Given the description of an element on the screen output the (x, y) to click on. 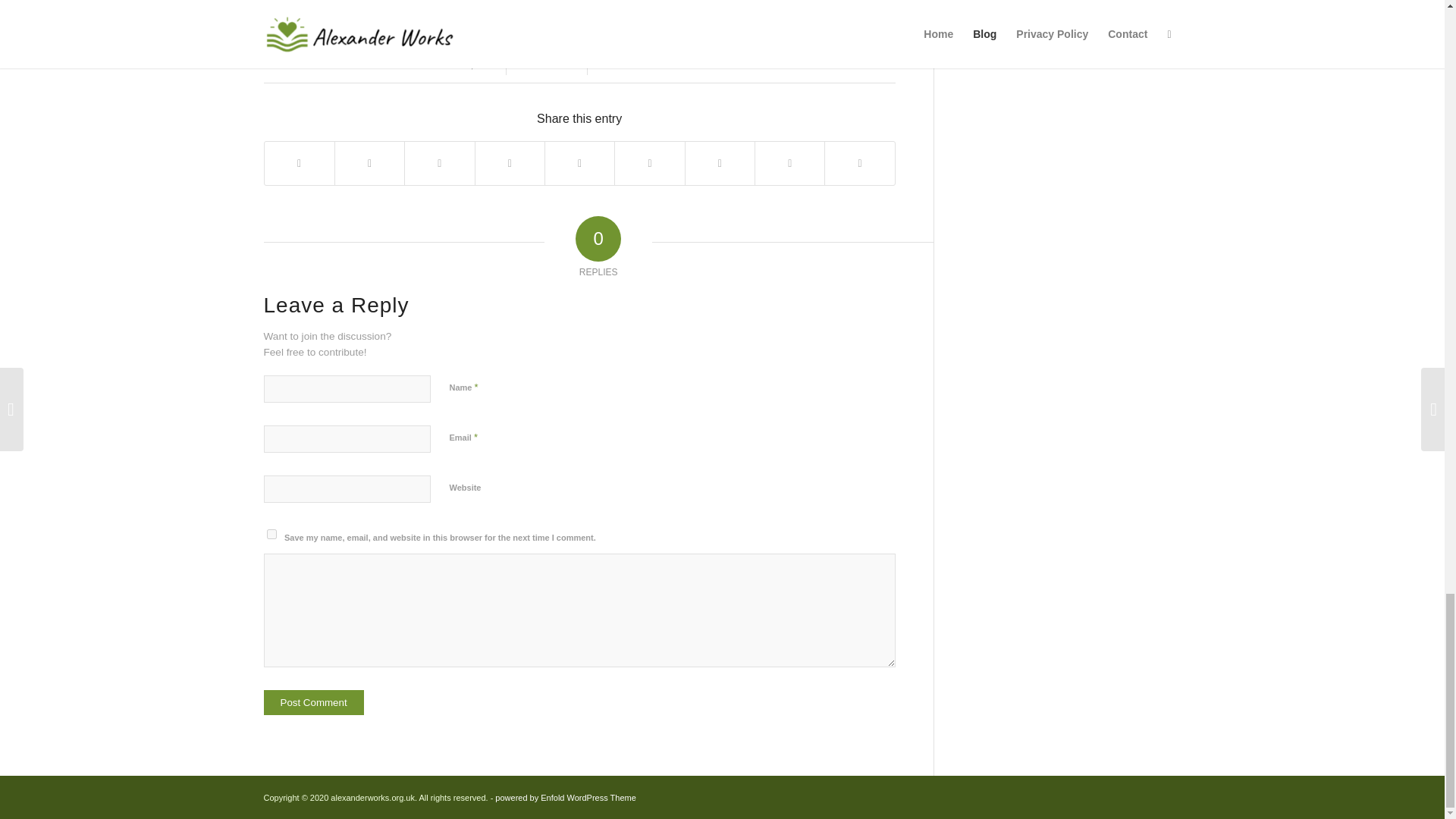
0 COMMENTS (546, 64)
Post Comment (313, 702)
Post Comment (313, 702)
MAUREEN C. INFANTE (664, 64)
Posts by Maureen C. Infante (664, 64)
yes (271, 533)
